Given the description of an element on the screen output the (x, y) to click on. 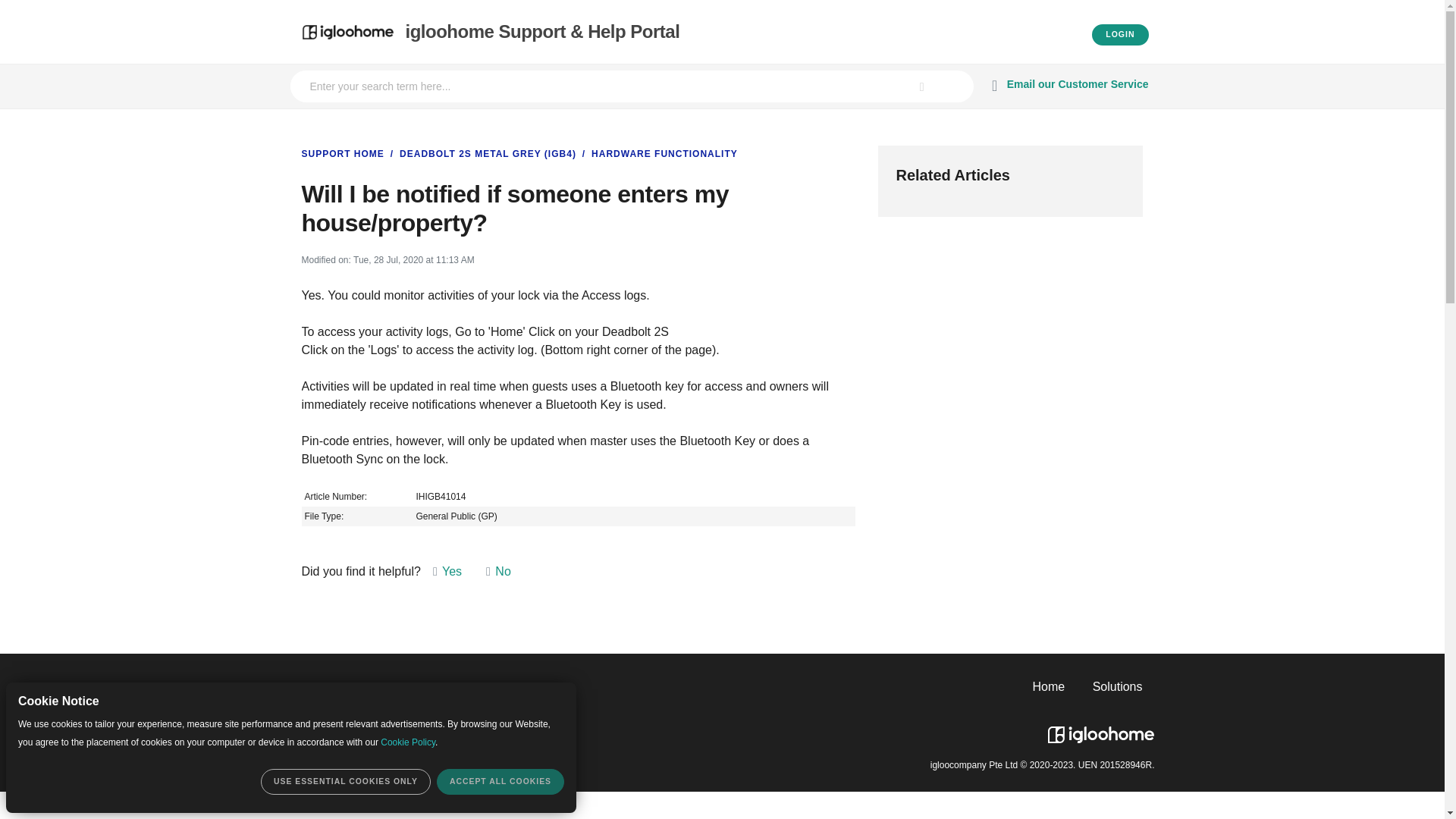
HARDWARE FUNCTIONALITY (658, 153)
Email our Customer Service (1066, 86)
USE ESSENTIAL COOKIES ONLY (345, 781)
LOGIN (1120, 34)
SUPPORT HOME (342, 153)
ACCEPT ALL COOKIES (500, 781)
Solutions (1117, 687)
Home (1048, 687)
Email our Customer Service (1066, 86)
igloohome (1101, 728)
Cookie Policy (407, 742)
